Given the description of an element on the screen output the (x, y) to click on. 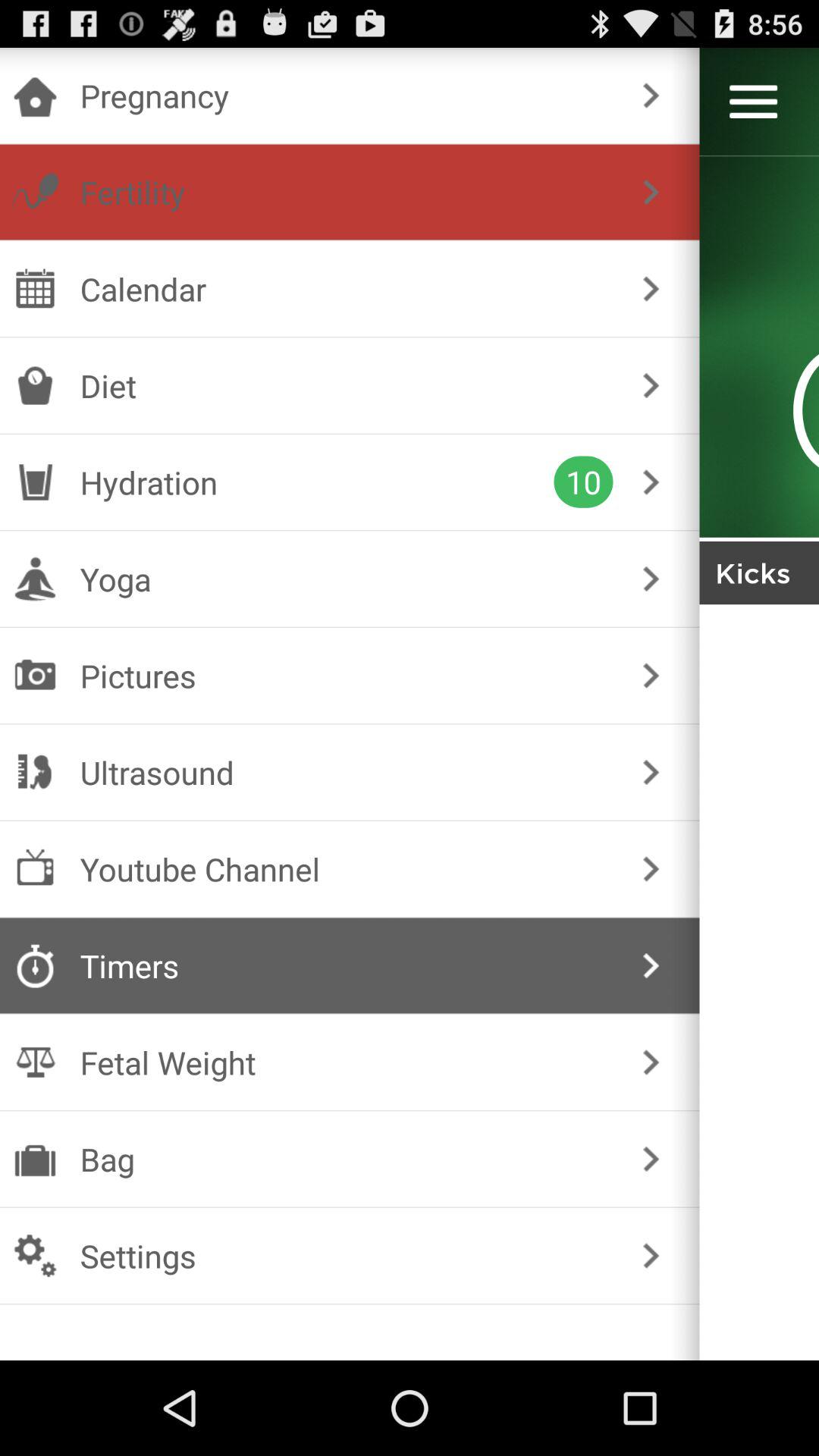
click ultrasound (346, 771)
